Given the description of an element on the screen output the (x, y) to click on. 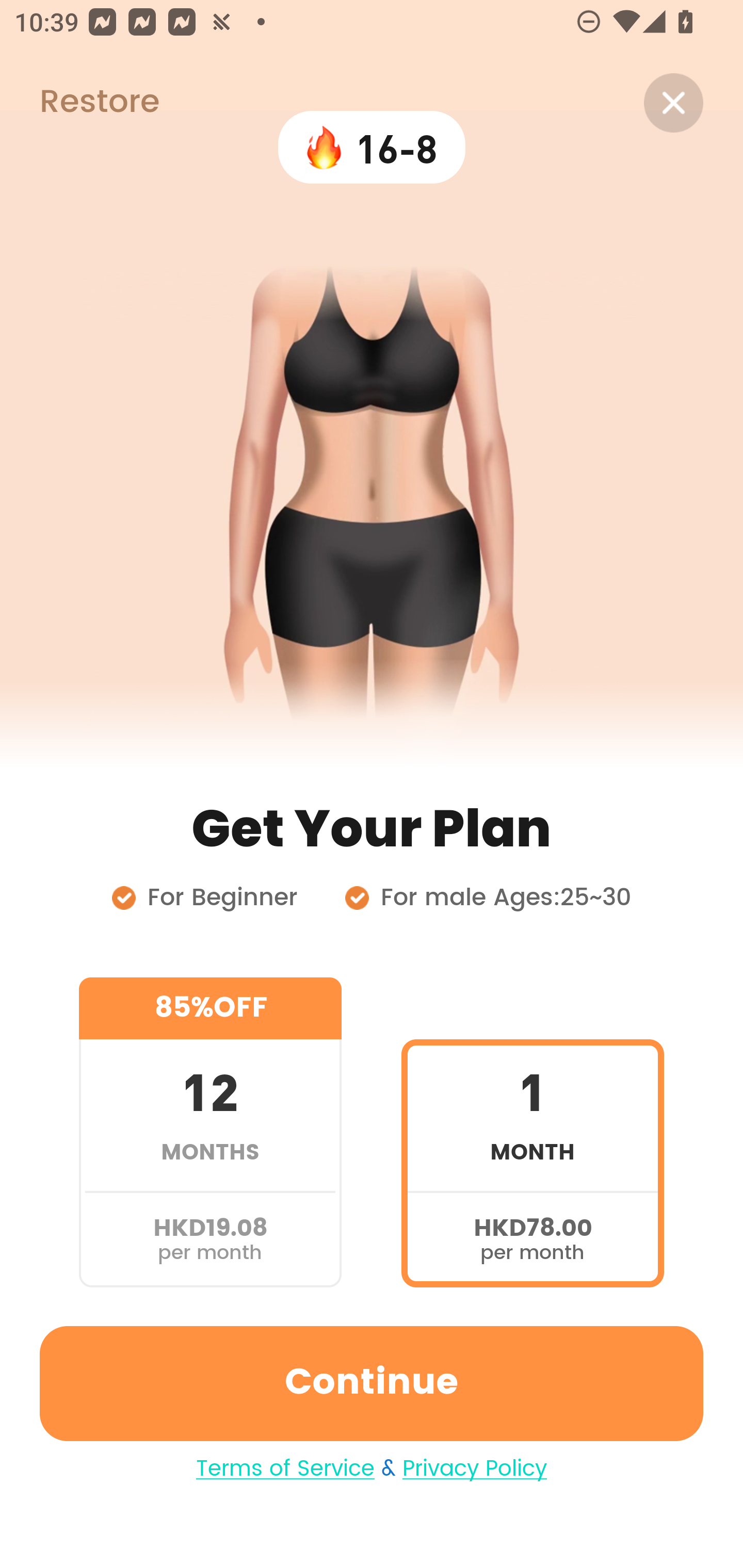
Restore (79, 102)
85%OFF 12 MONTHS per month HKD19.08 (209, 1131)
1 MONTH per month HKD78.00 (532, 1131)
Continue (371, 1383)
